Given the description of an element on the screen output the (x, y) to click on. 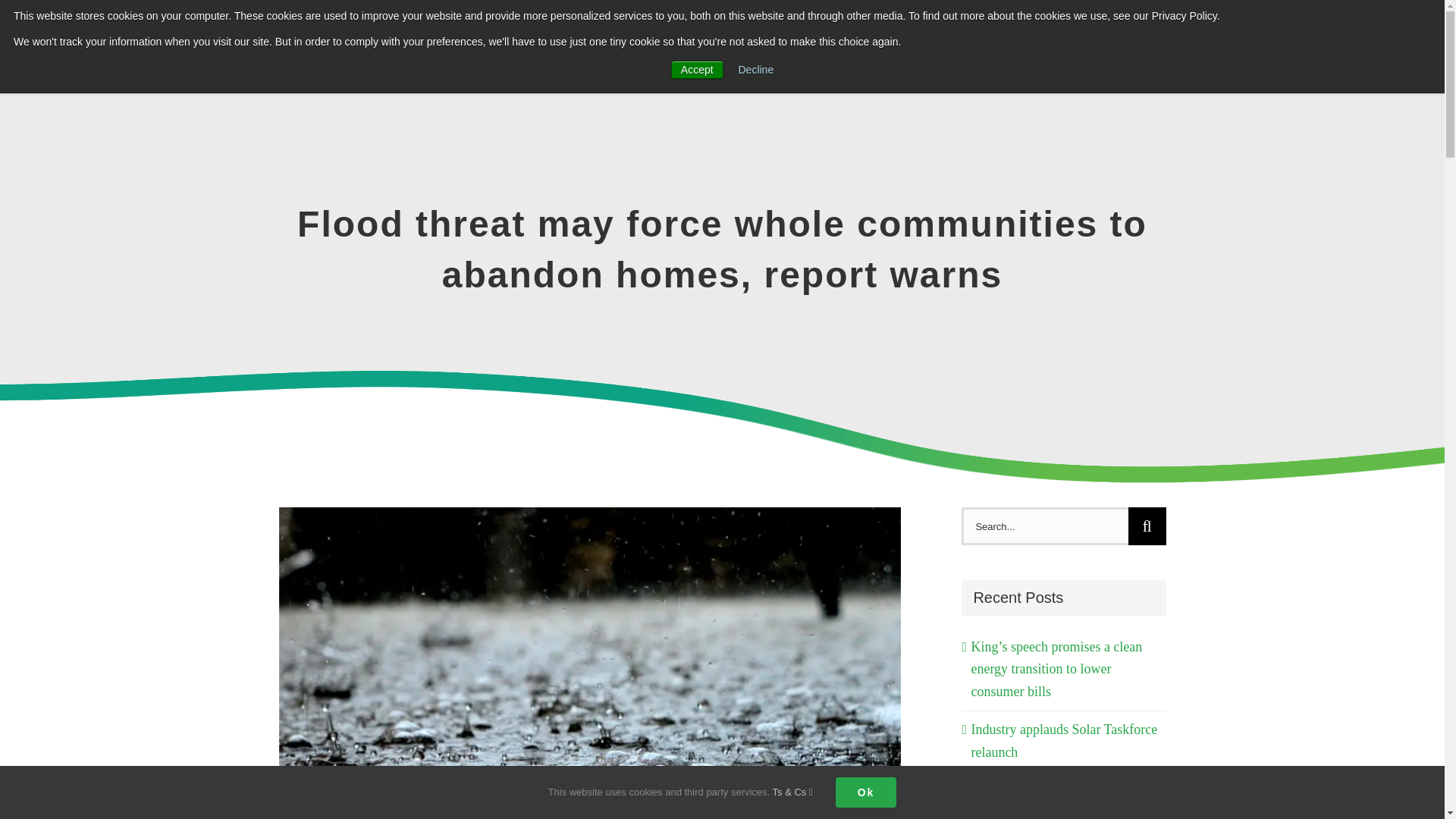
COMMERCIAL (883, 38)
SUPPORT (1142, 38)
DOMESTIC (760, 38)
ABOUT (1239, 38)
Accept (697, 69)
Decline (756, 69)
LEARNING HUB (1021, 38)
